Given the description of an element on the screen output the (x, y) to click on. 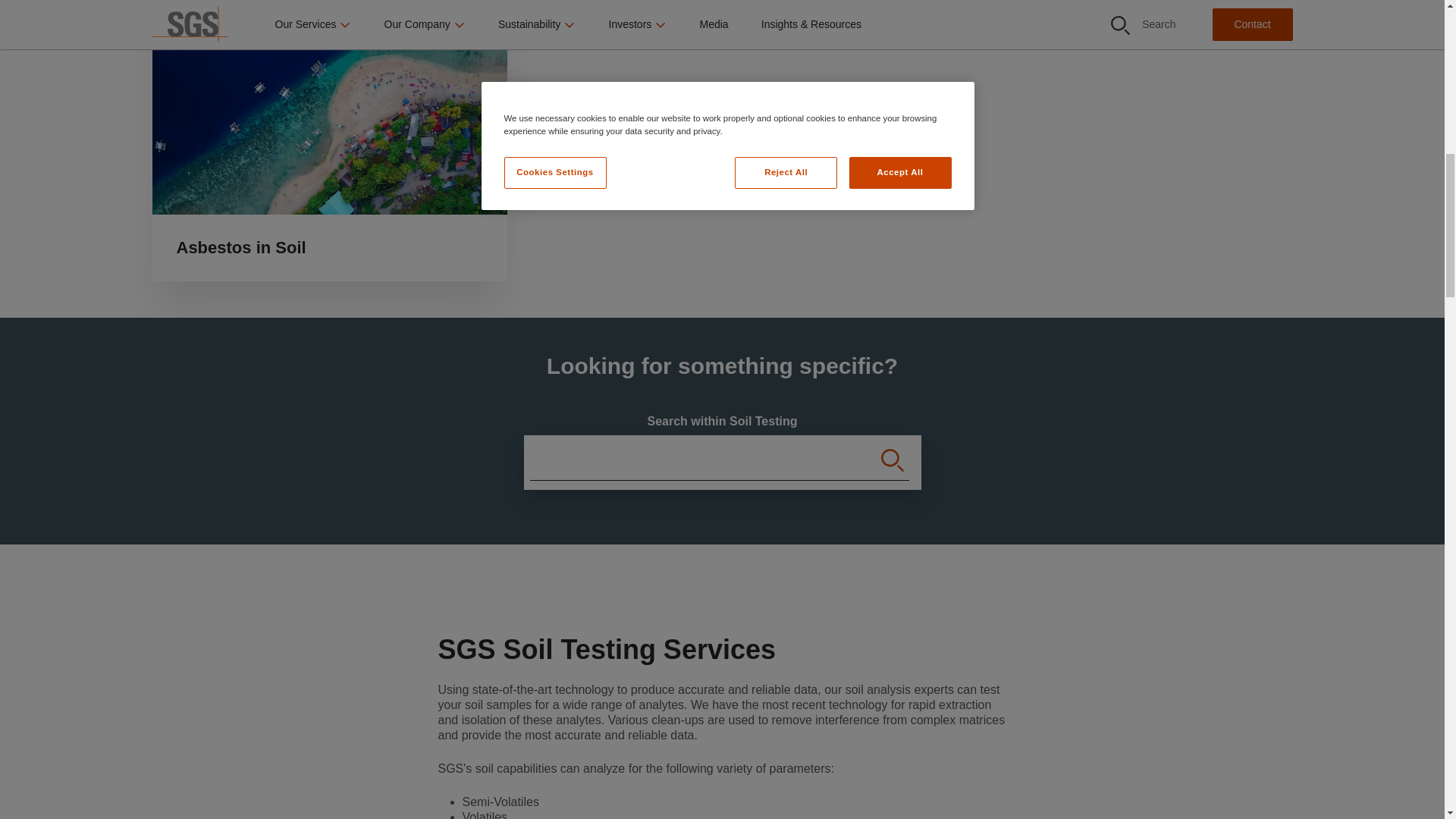
Insert a query. Press enter to send (686, 462)
Asbestos in Soil (328, 140)
